Given the description of an element on the screen output the (x, y) to click on. 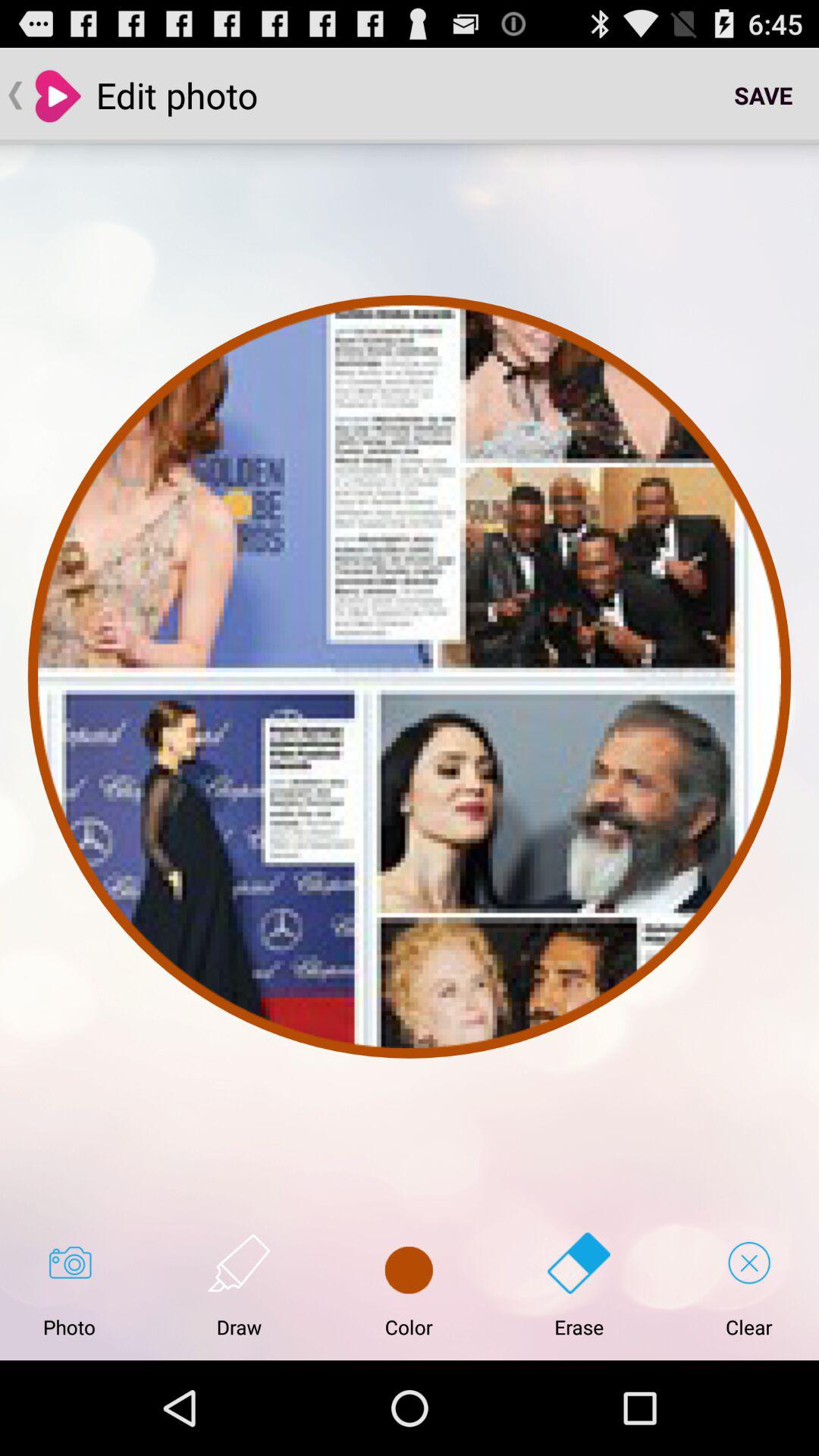
open the item to the left of the erase button (408, 1285)
